Given the description of an element on the screen output the (x, y) to click on. 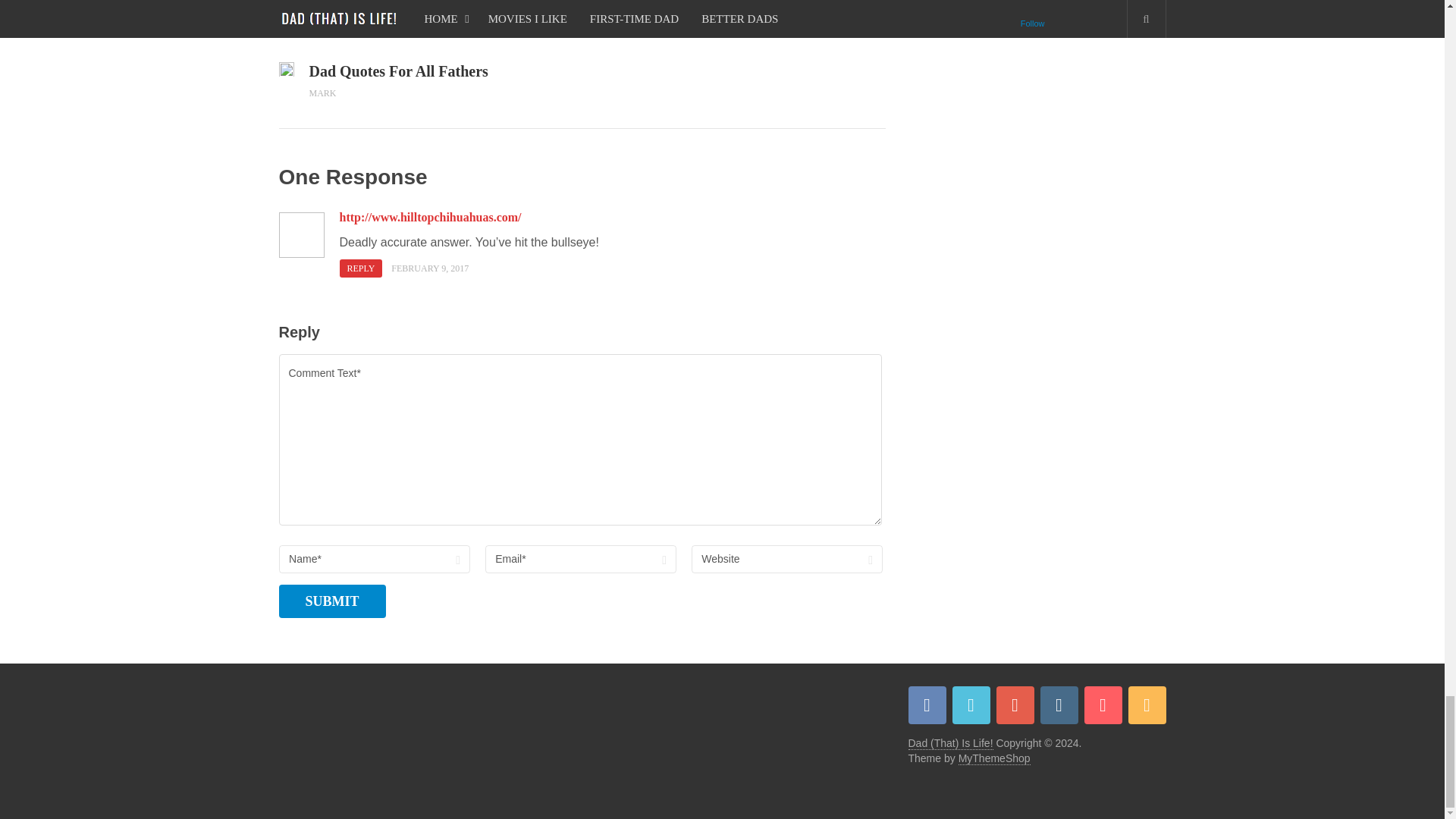
Submit (332, 601)
Dad Quotes For All Fathers (445, 71)
